Given the description of an element on the screen output the (x, y) to click on. 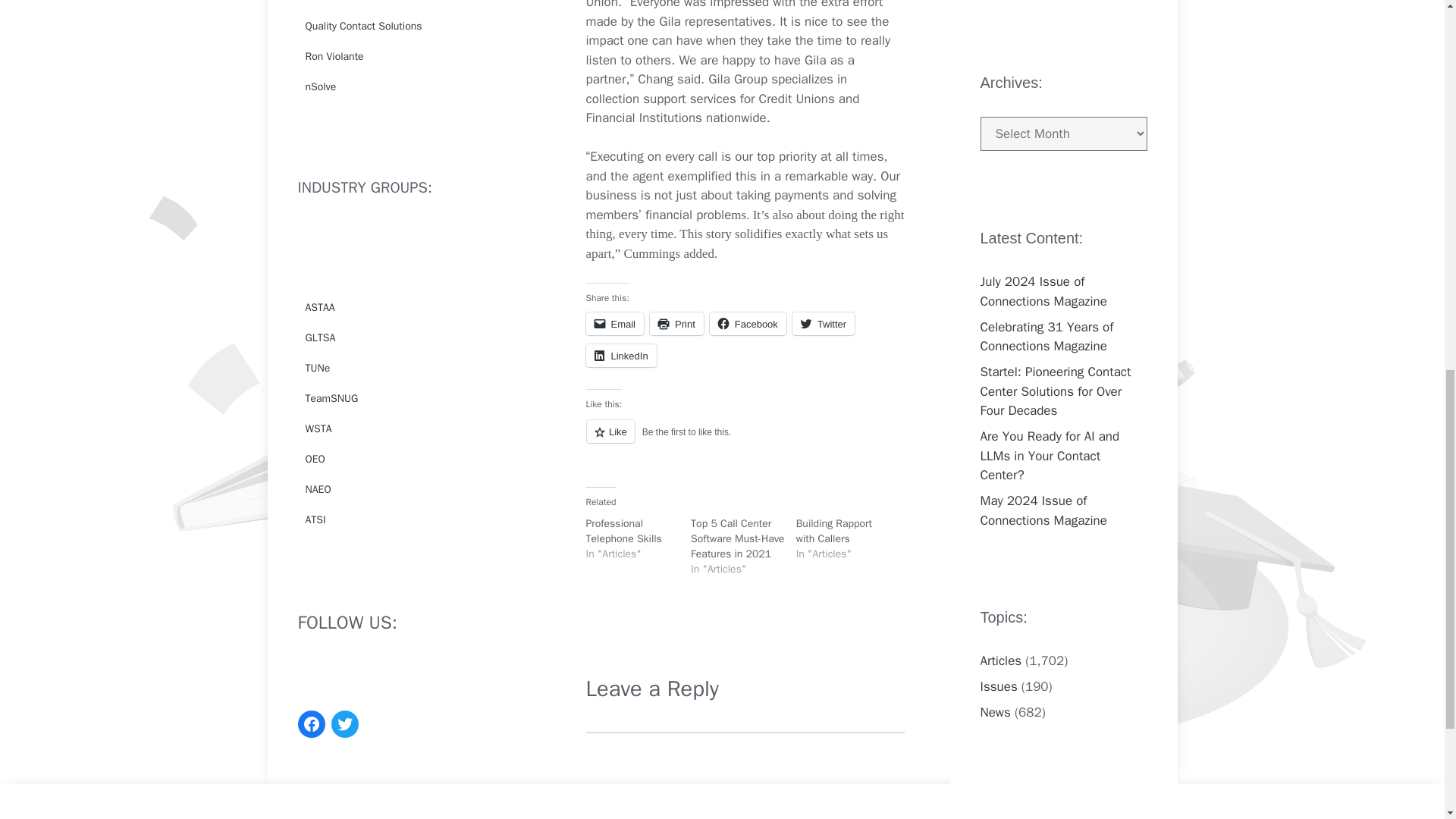
Professional Telephone Skills (623, 530)
Top 5 Call Center Software Must-Have Features in 2021 (737, 538)
Click to share on Twitter (823, 323)
Click to email a link to a friend (614, 323)
Click to share on Facebook (748, 323)
Like or Reblog (744, 440)
Scroll back to top (1406, 720)
Click to share on LinkedIn (620, 354)
Building Rapport with Callers (834, 530)
Click to print (676, 323)
